Given the description of an element on the screen output the (x, y) to click on. 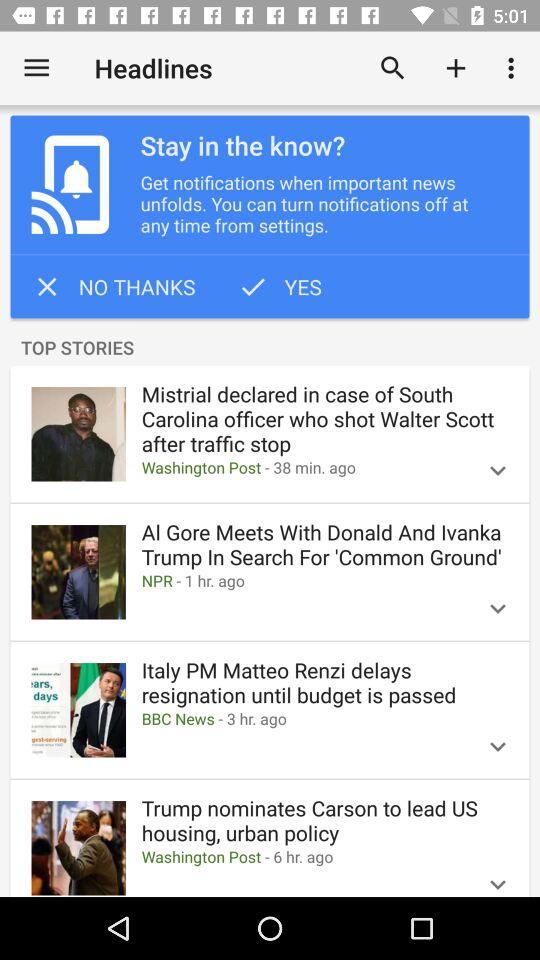
open the item above stay in the item (455, 67)
